Given the description of an element on the screen output the (x, y) to click on. 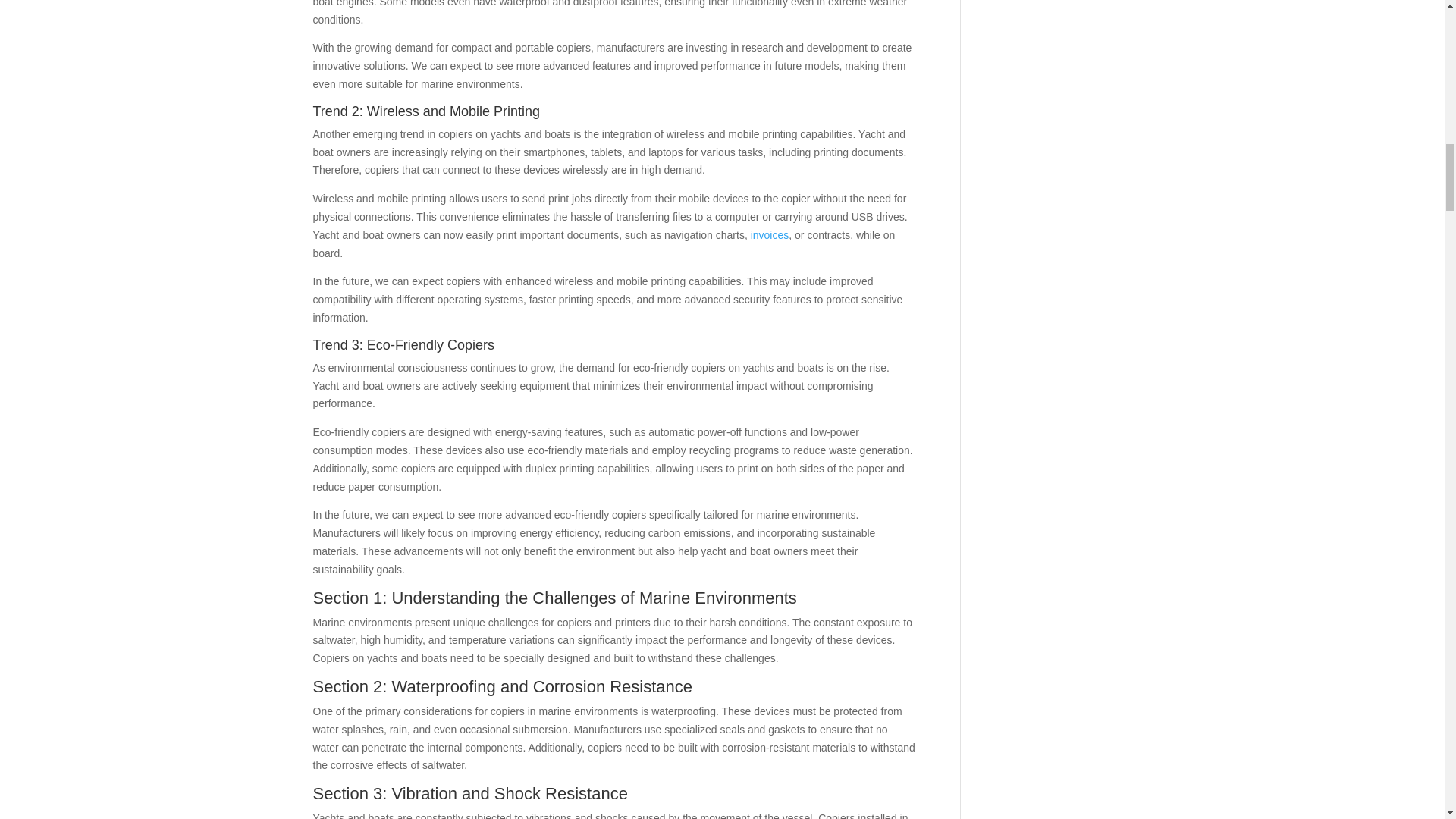
invoices (770, 234)
